Given the description of an element on the screen output the (x, y) to click on. 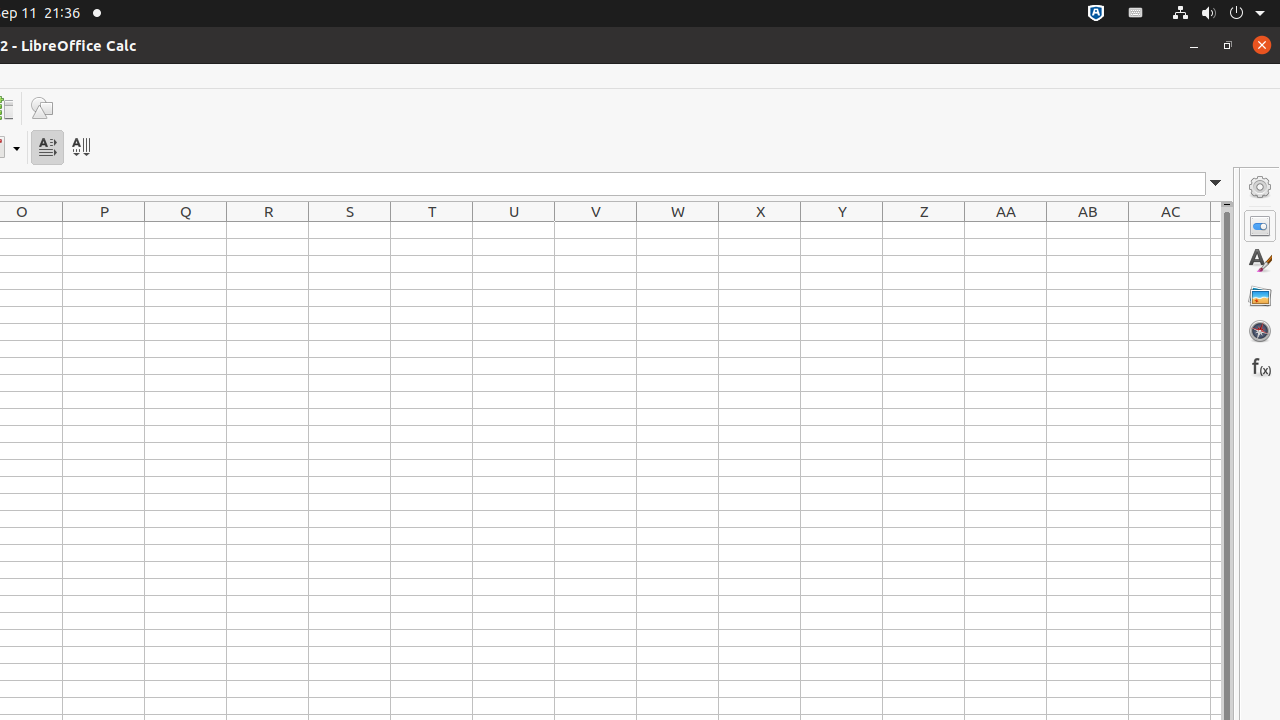
U1 Element type: table-cell (514, 230)
P1 Element type: table-cell (104, 230)
Expand Formula Bar Element type: push-button (1216, 183)
R1 Element type: table-cell (268, 230)
Y1 Element type: table-cell (842, 230)
